Given the description of an element on the screen output the (x, y) to click on. 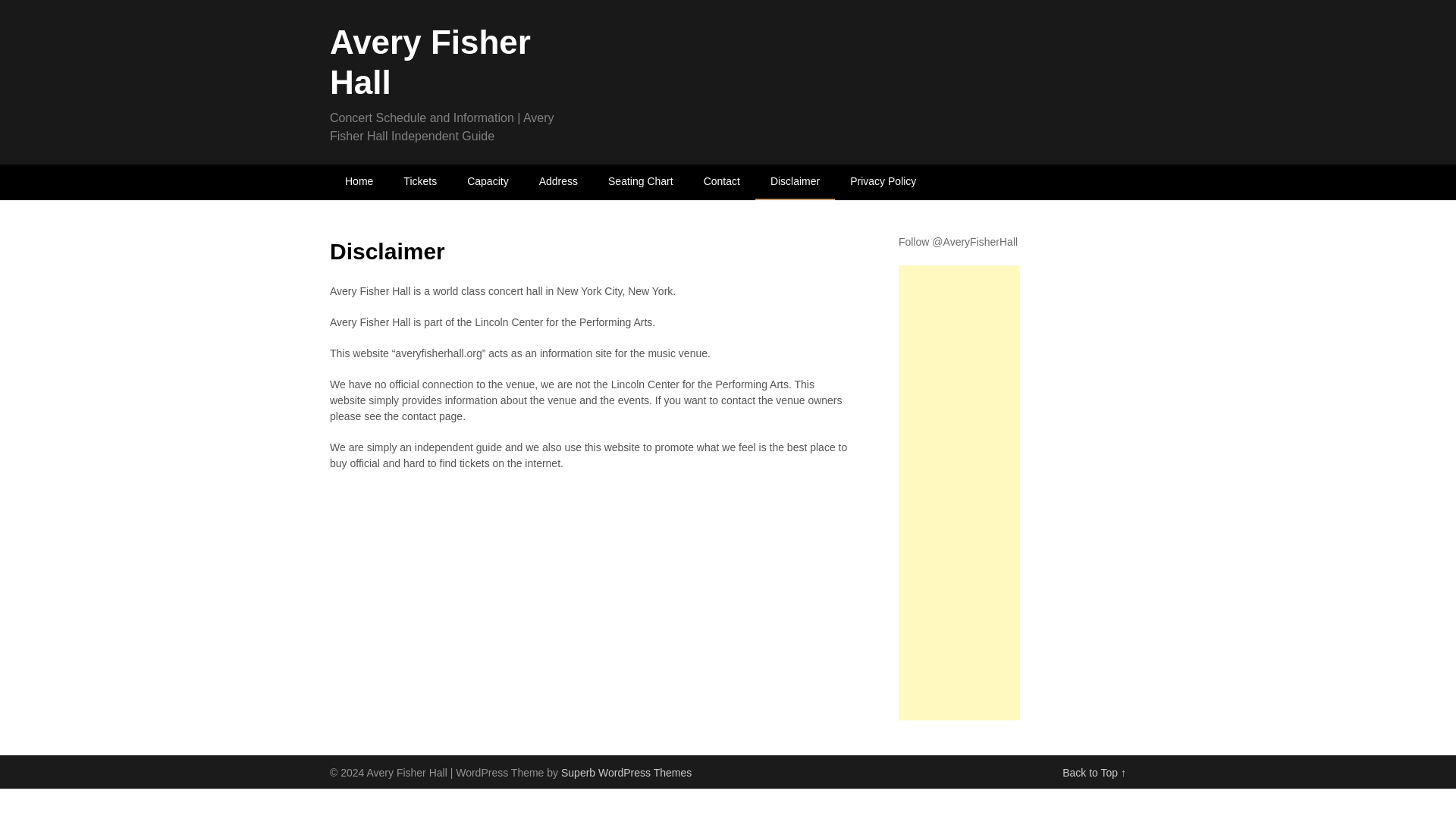
Seating Chart (640, 181)
Address (558, 181)
Home (359, 181)
Superb WordPress Themes (625, 772)
Privacy Policy (882, 181)
Capacity (486, 181)
Tickets (419, 181)
Disclaimer (794, 181)
Contact (721, 181)
Avery Fisher Hall (430, 61)
